Given the description of an element on the screen output the (x, y) to click on. 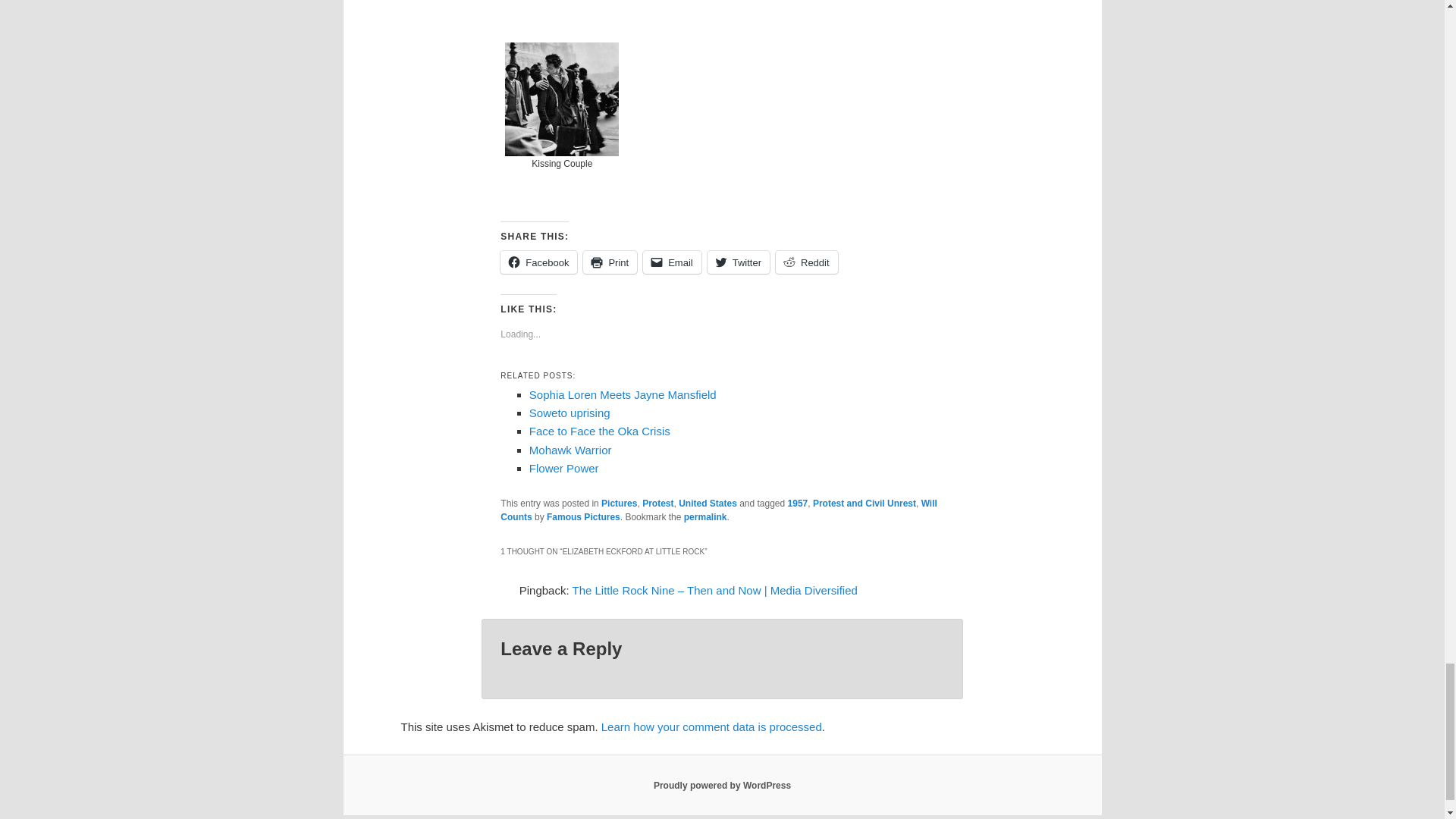
Click to email a link to a friend (672, 261)
Click to share on Twitter (738, 261)
Flower Power (563, 468)
Sophia Loren Meets Jayne Mansfield (622, 394)
Mohawk Warrior (570, 449)
Click to print (610, 261)
Print (610, 261)
Afro Ninja (561, 17)
Permalink to Elizabeth Eckford at Little Rock (705, 516)
Email (672, 261)
Click to share on Facebook (538, 261)
Semantic Personal Publishing Platform (721, 785)
Dead Americans at Buna Beach (805, 17)
Face to Face the Oka Crisis (599, 431)
